Given the description of an element on the screen output the (x, y) to click on. 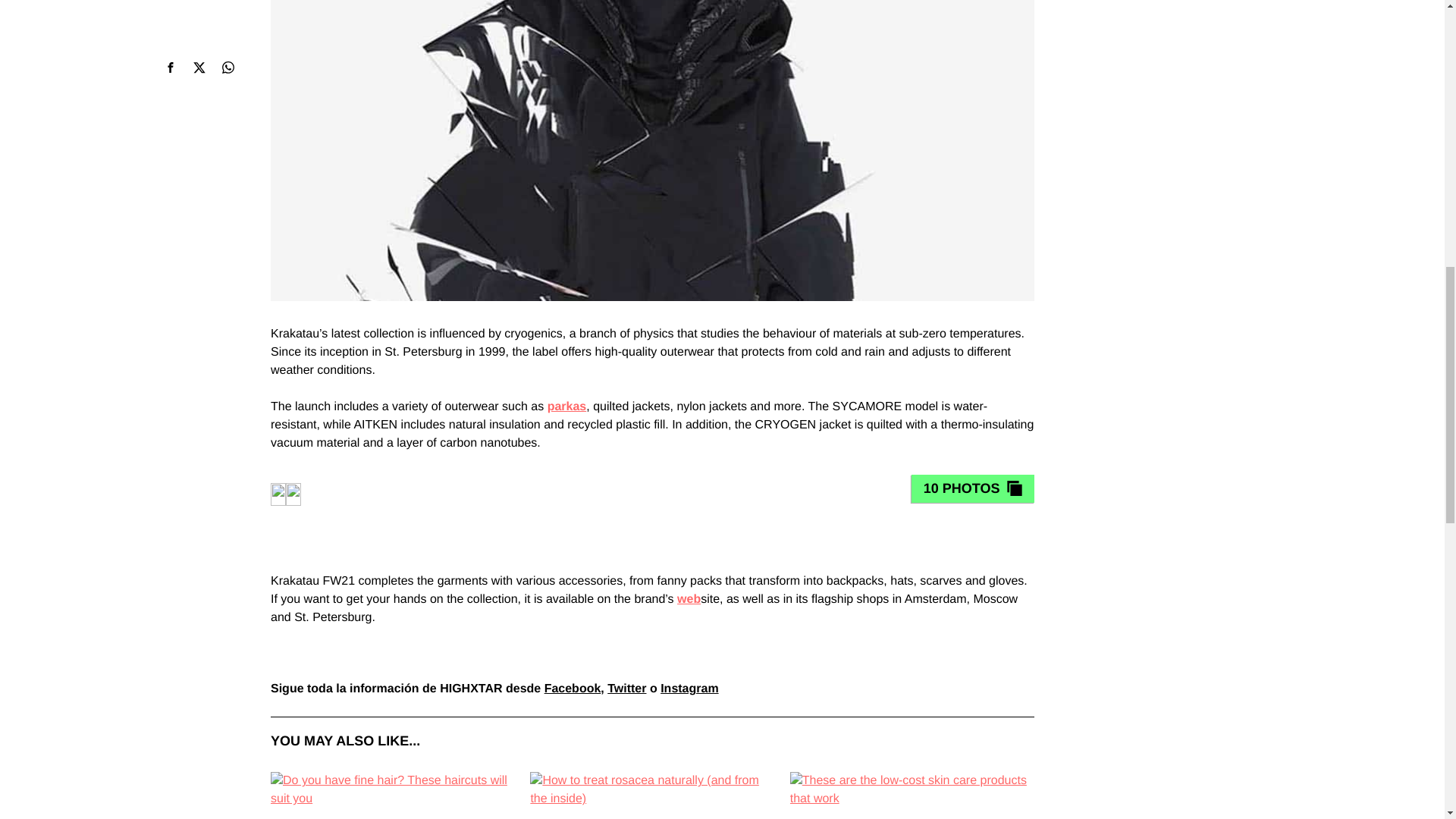
Highxtar Facebook (572, 688)
Highxtar Instagram (689, 688)
Highxtar Twitter (626, 688)
